Given the description of an element on the screen output the (x, y) to click on. 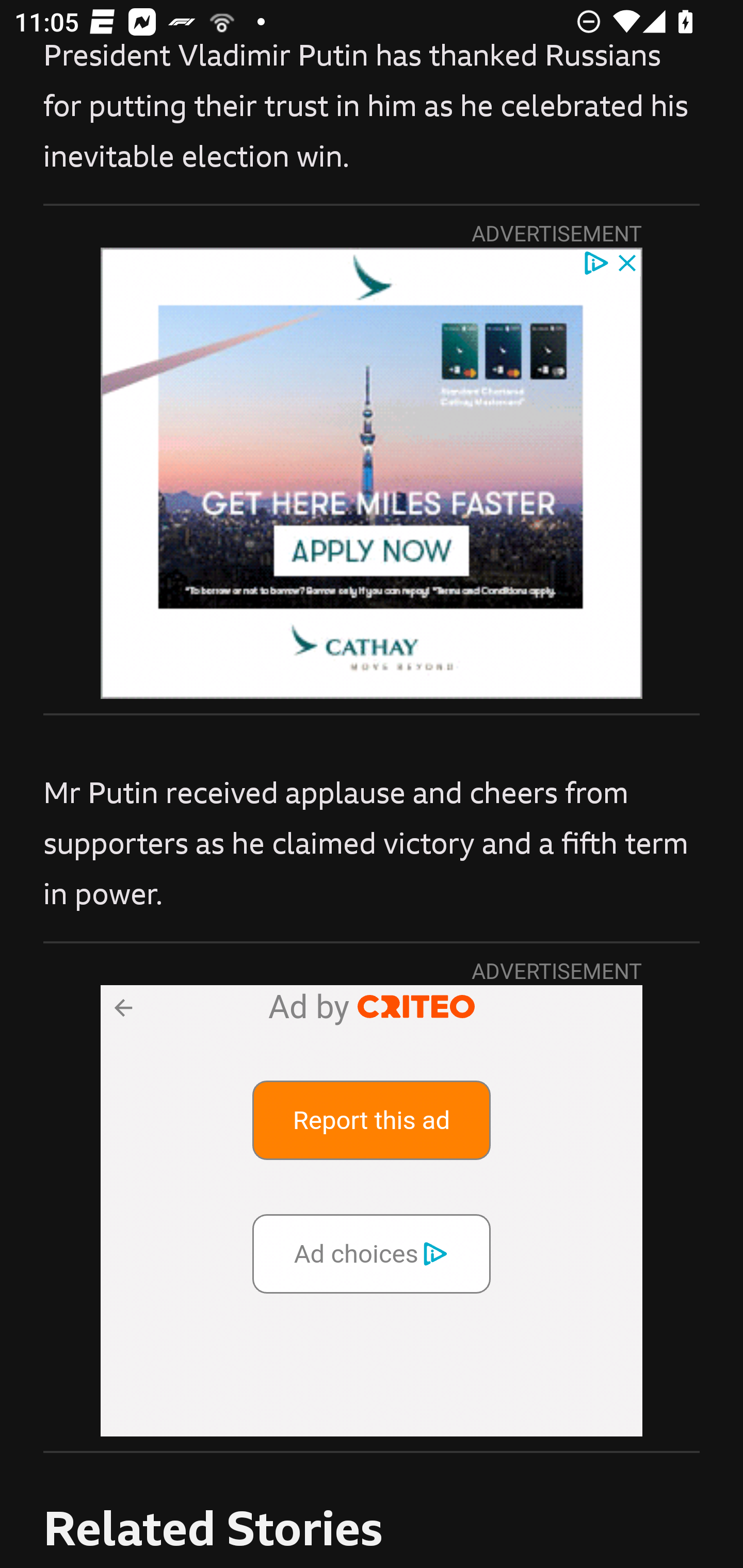
privacy_small (595, 261)
close_button (627, 261)
back_button2 (121, 1006)
Report this ad (371, 1119)
Ad choices Ad choices privacy (371, 1252)
